Given the description of an element on the screen output the (x, y) to click on. 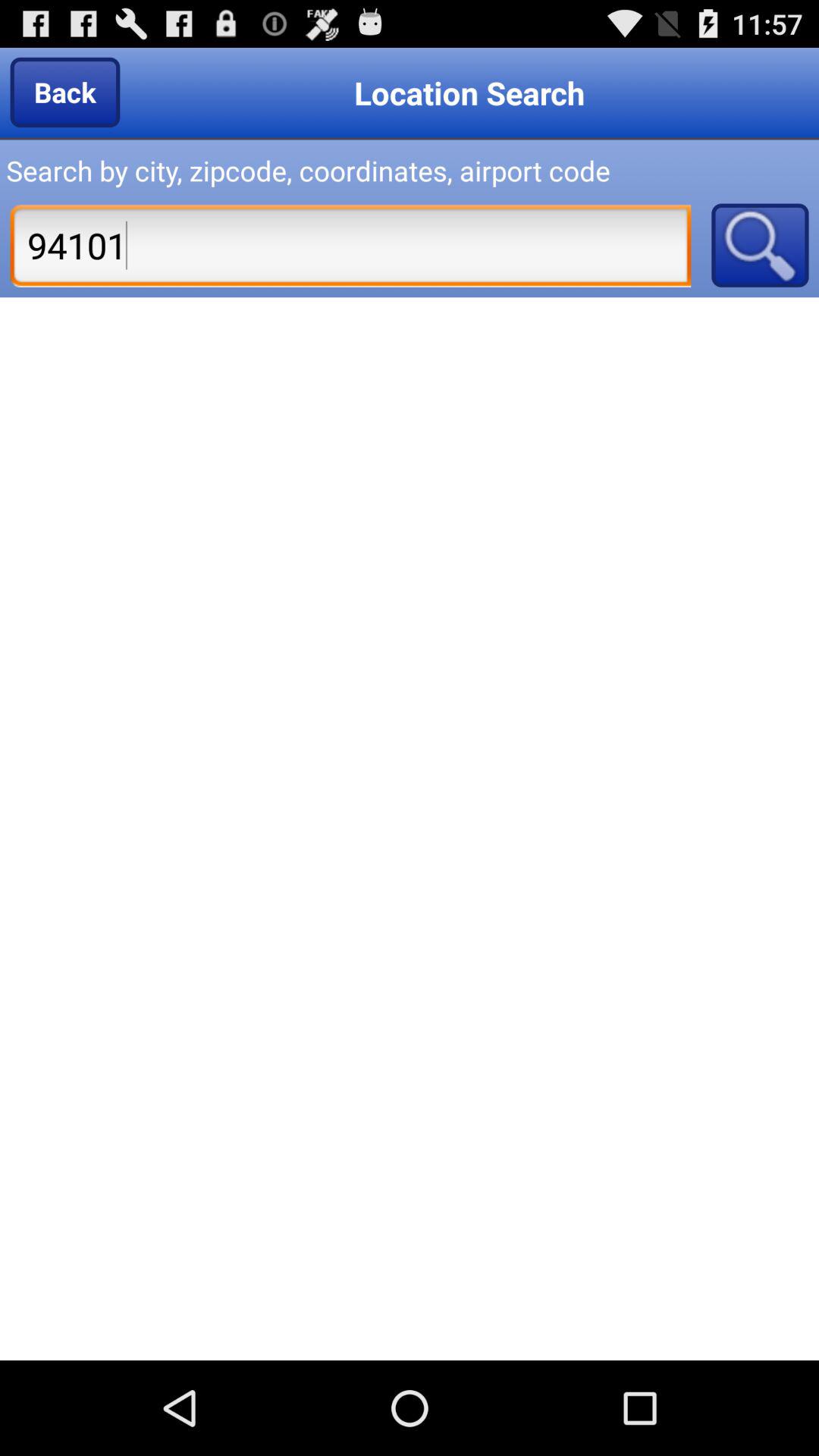
jump to the back icon (65, 92)
